Given the description of an element on the screen output the (x, y) to click on. 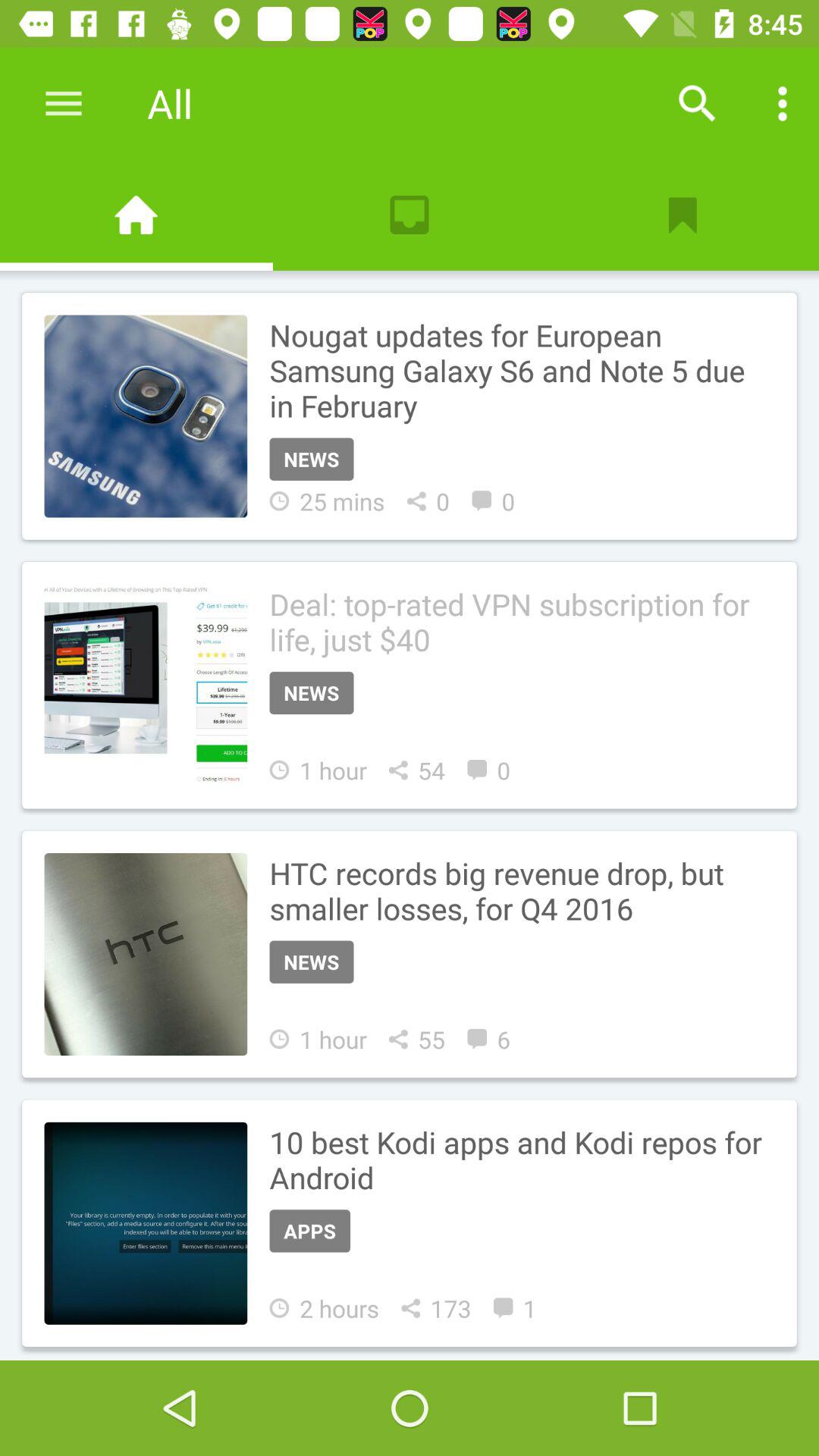
search (697, 103)
